Given the description of an element on the screen output the (x, y) to click on. 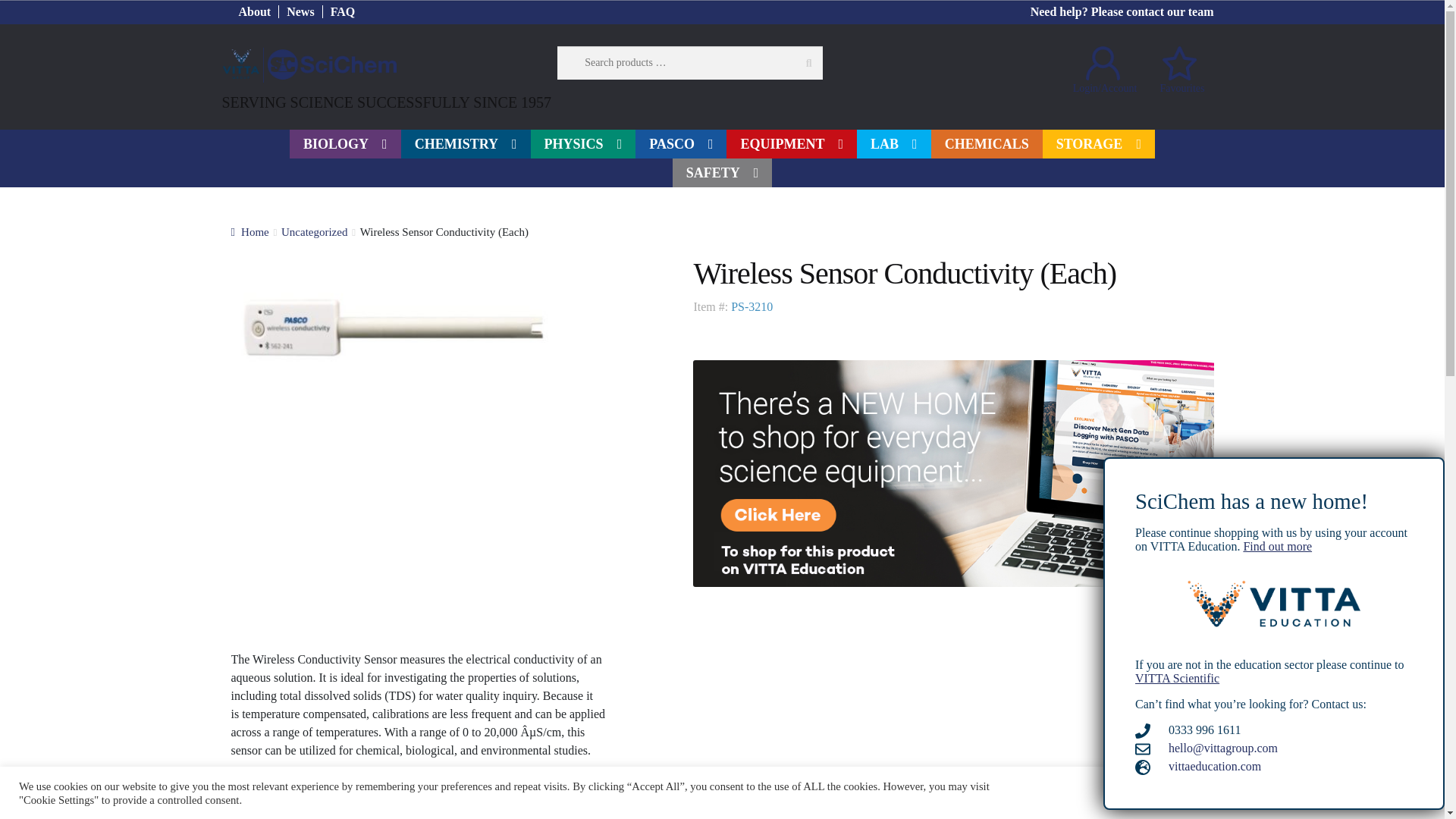
About (254, 11)
Favourites (1179, 66)
Need help? Please contact our team (1122, 11)
News (300, 11)
Favourites (1179, 66)
FAQ (342, 11)
My Account (1102, 66)
PS-3210 (392, 328)
